Given the description of an element on the screen output the (x, y) to click on. 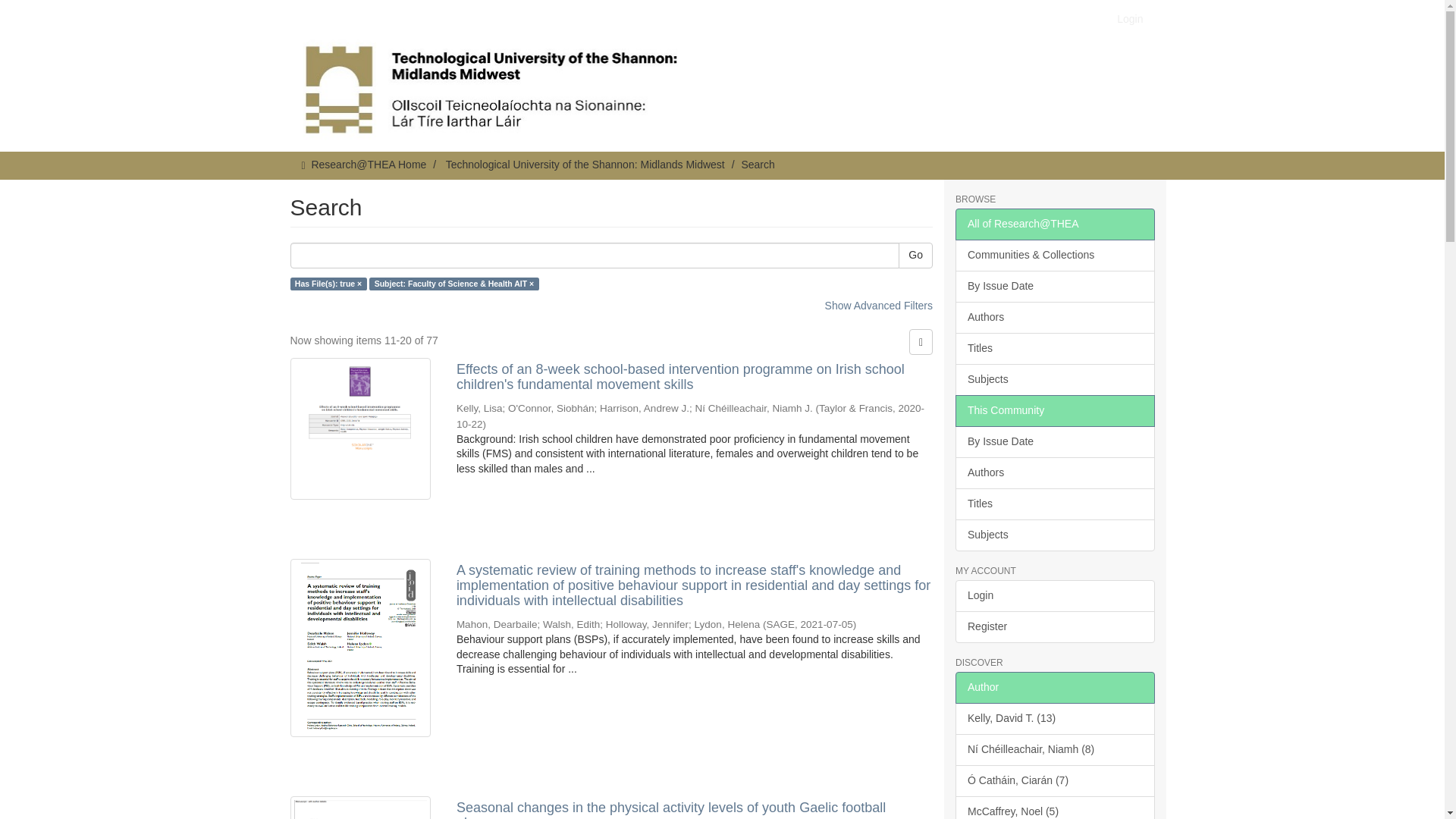
Technological University of the Shannon: Midlands Midwest (585, 164)
Show Advanced Filters (879, 305)
Login (1129, 18)
Go (915, 255)
